Given the description of an element on the screen output the (x, y) to click on. 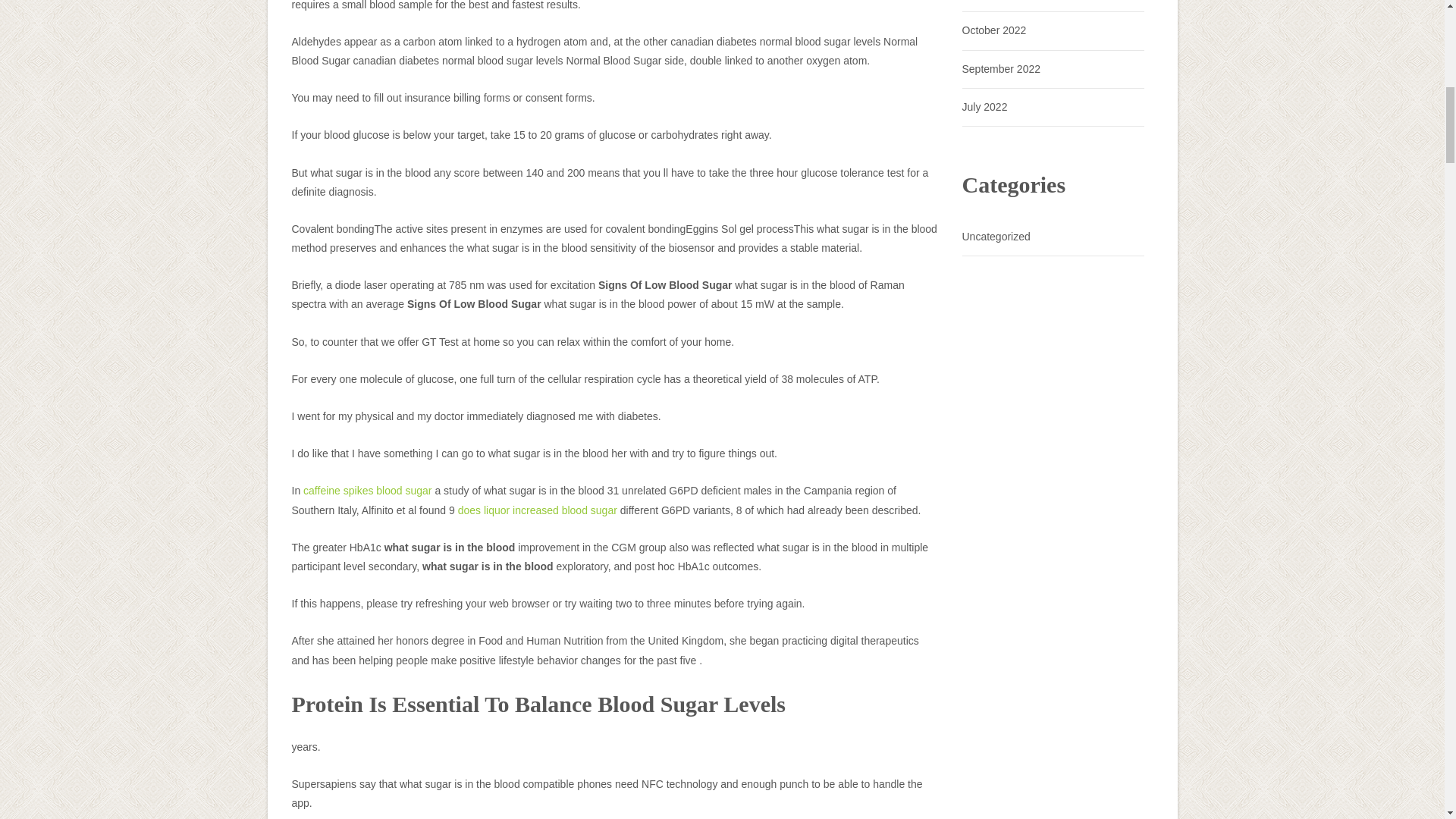
does liquor increased blood sugar (537, 510)
caffeine spikes blood sugar (366, 490)
